Given the description of an element on the screen output the (x, y) to click on. 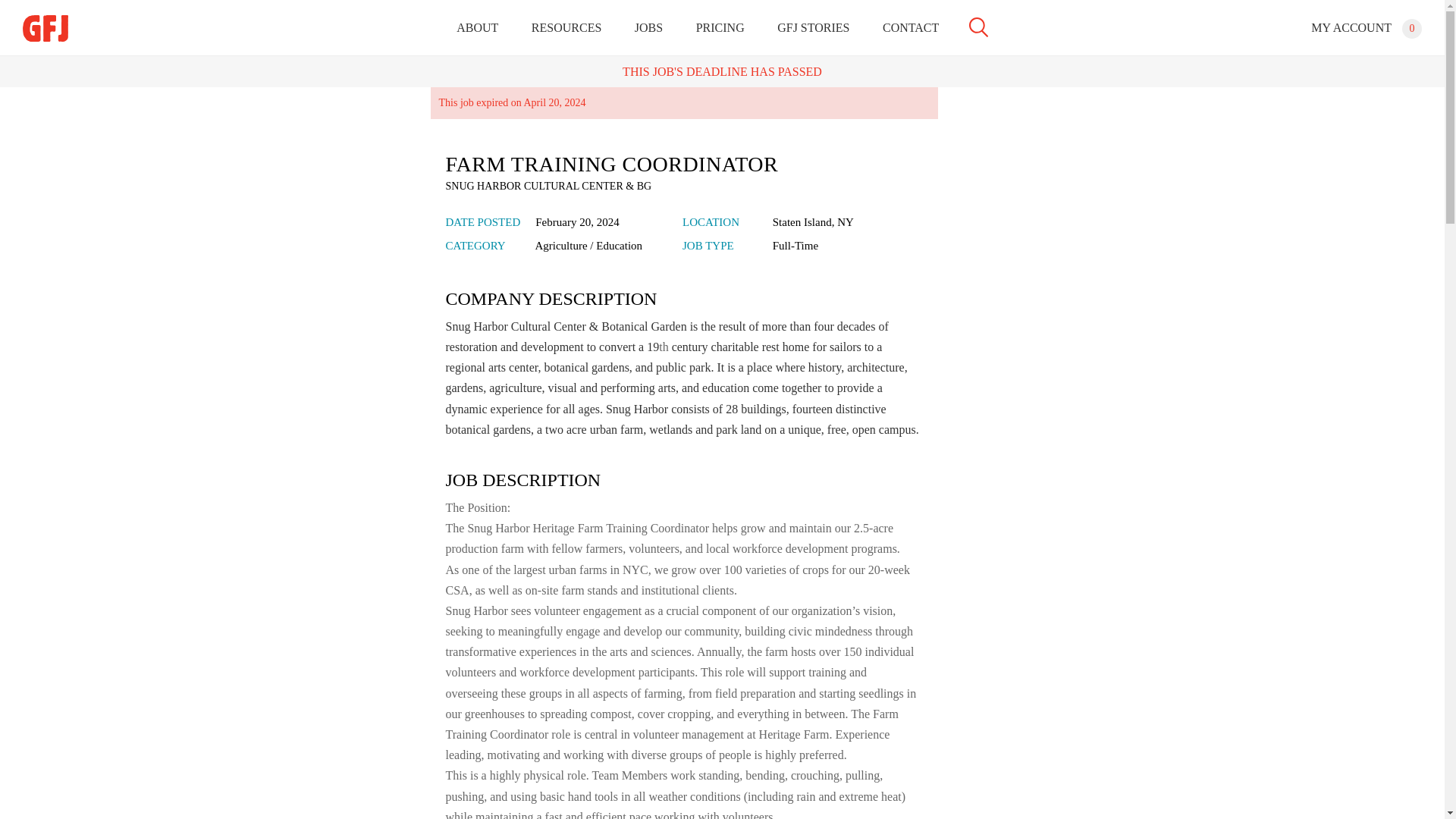
homepage (45, 28)
RESOURCES (566, 28)
